Given the description of an element on the screen output the (x, y) to click on. 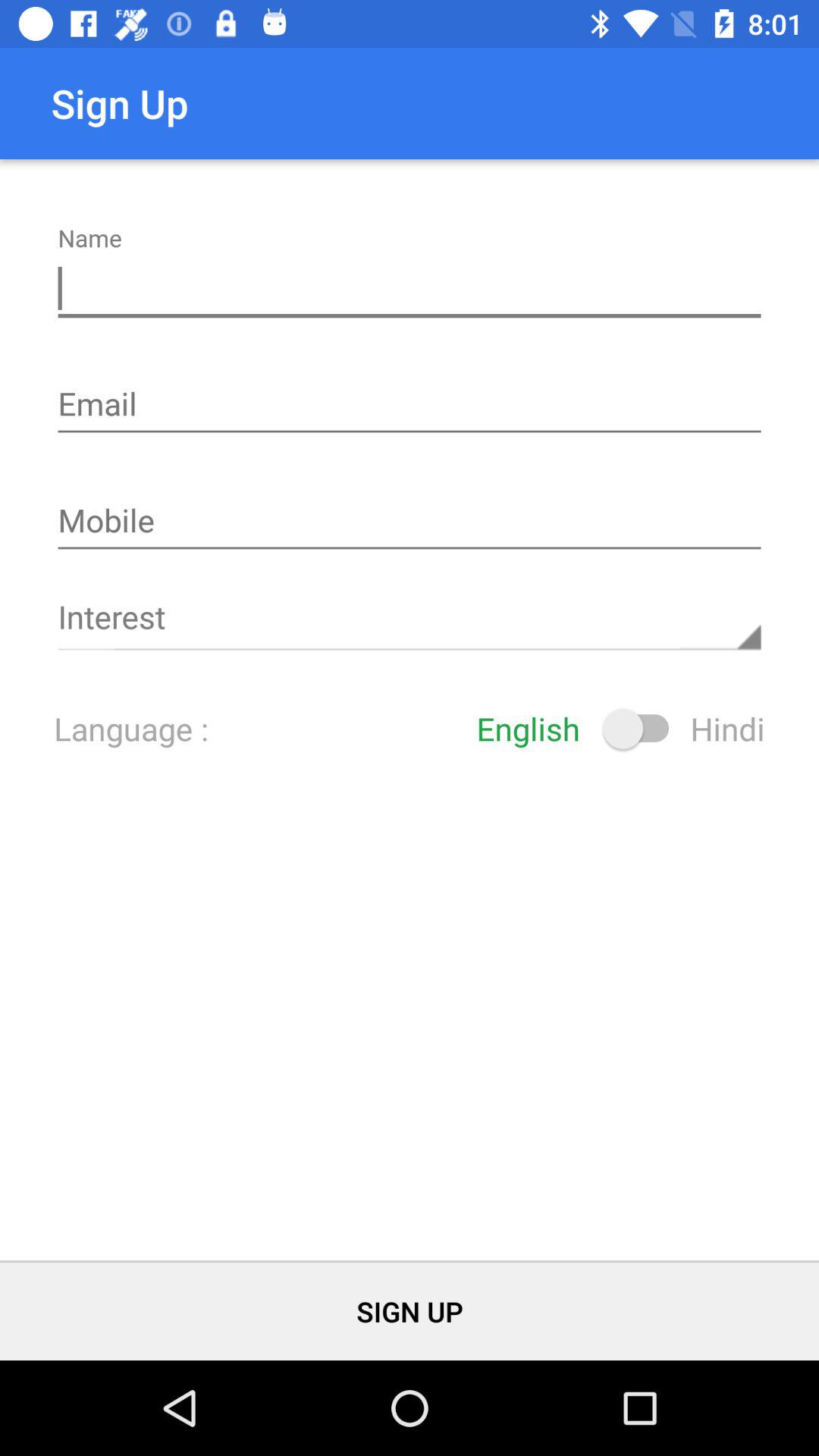
insert your name (409, 288)
